Given the description of an element on the screen output the (x, y) to click on. 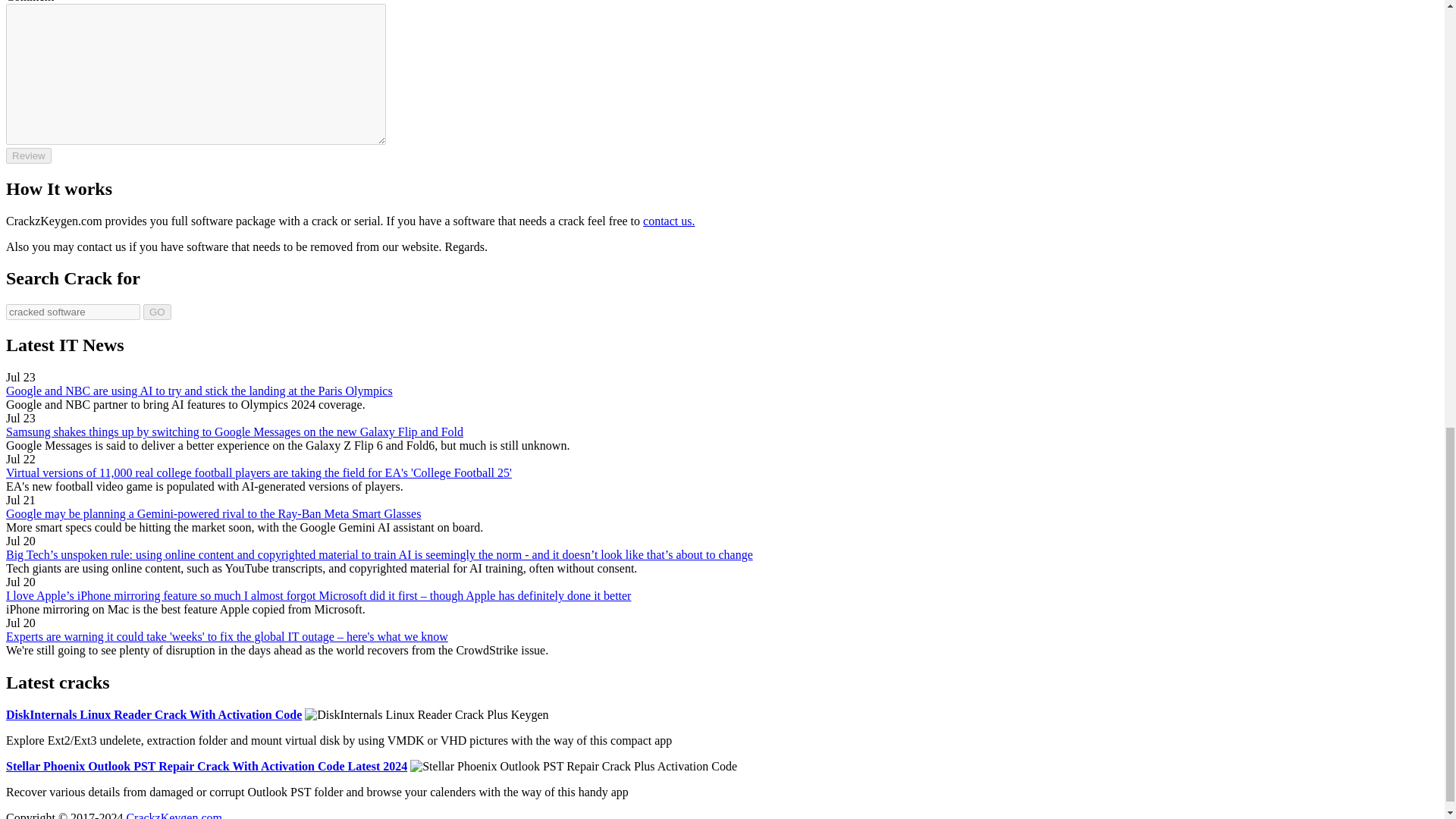
DiskInternals Linux Reader Crack With Activation Code (153, 714)
Review (27, 155)
GO (156, 311)
contact us. (668, 220)
GO (156, 311)
Review (27, 155)
